Given the description of an element on the screen output the (x, y) to click on. 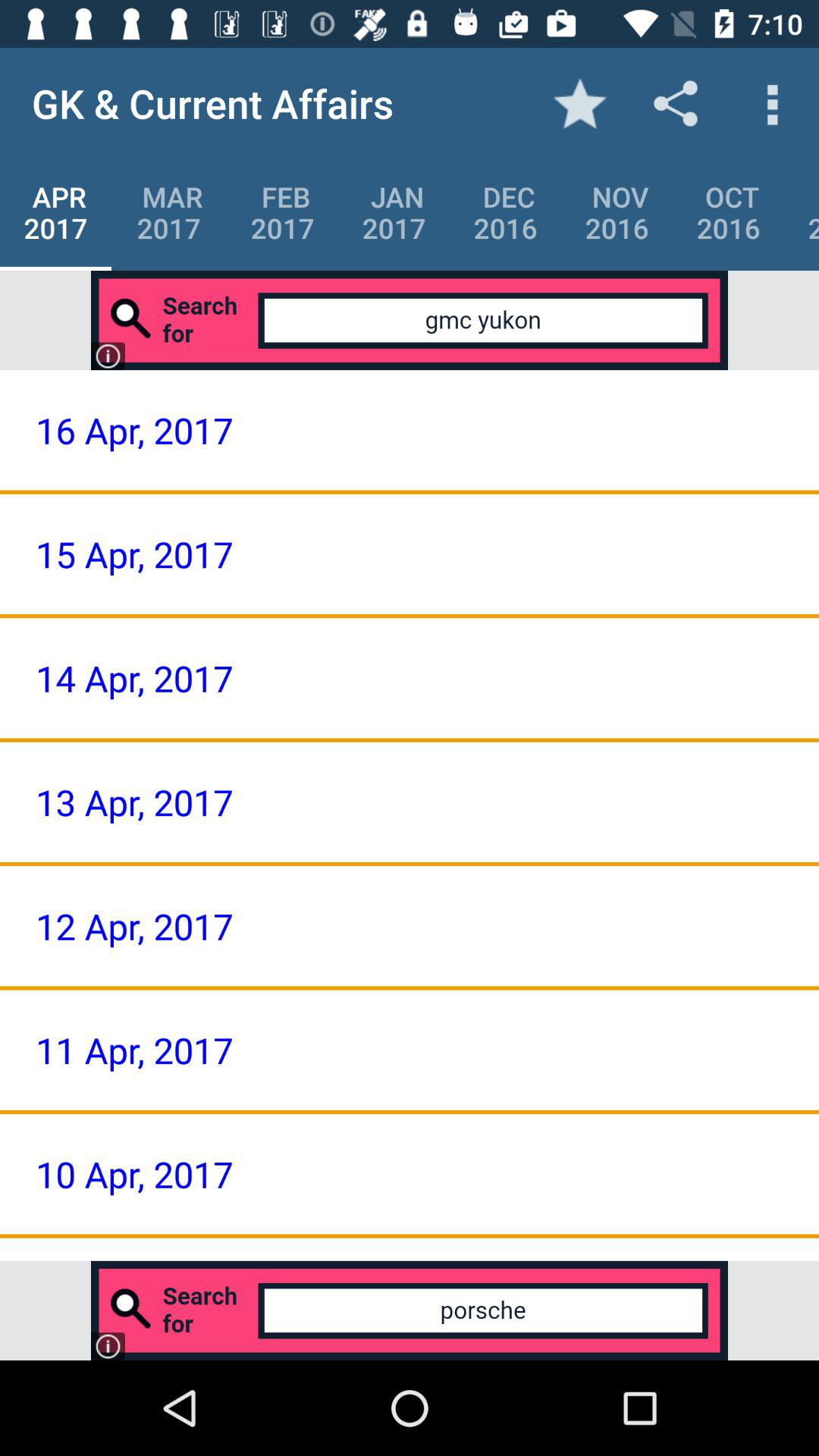
tap the icon above 16 apr, 2017 icon (409, 320)
